Given the description of an element on the screen output the (x, y) to click on. 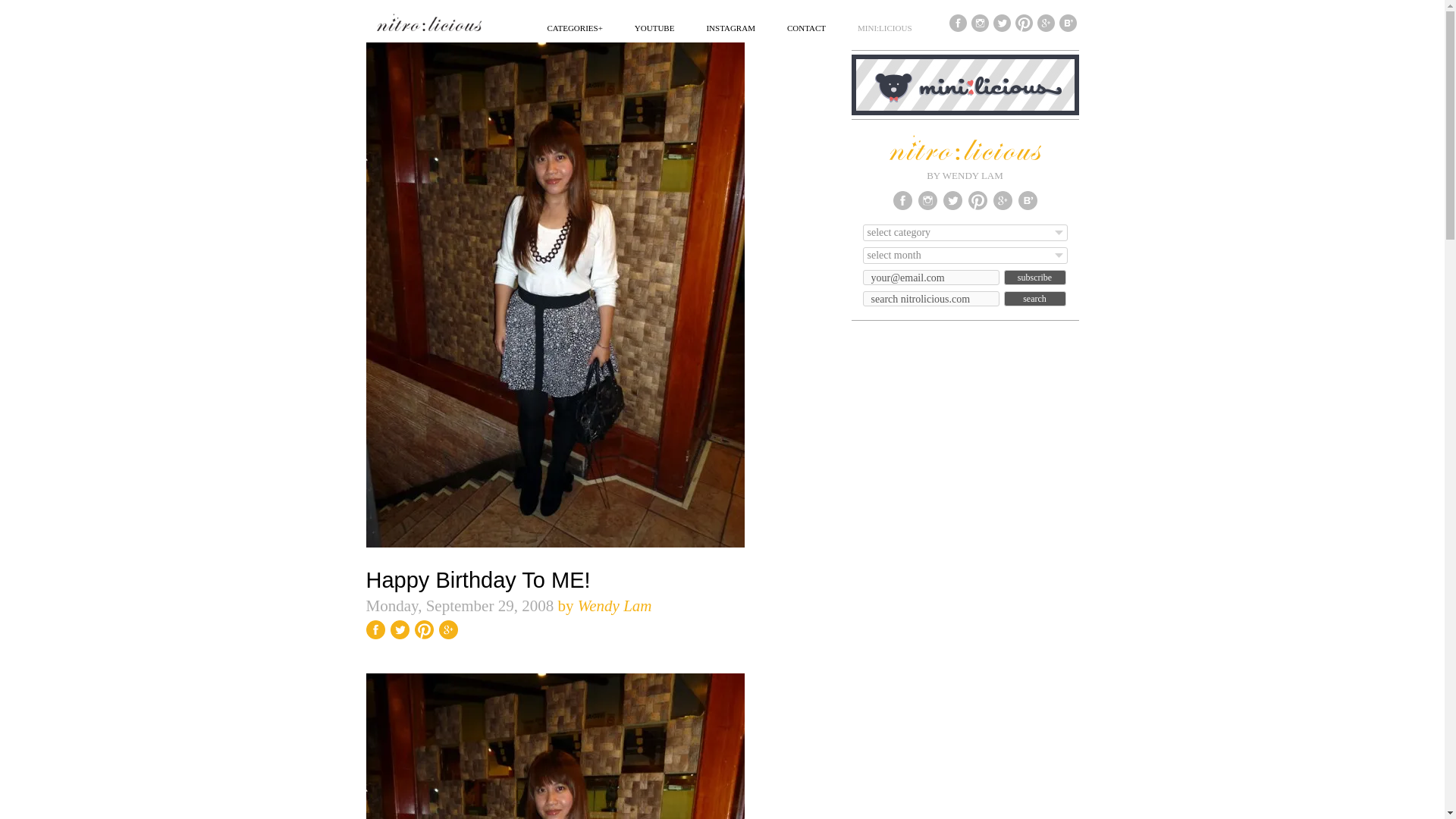
Wendy Lam (615, 606)
CONTACT (806, 28)
INSTAGRAM (730, 28)
Search (1034, 298)
MINI:LICIOUS (884, 28)
Subscribe (1034, 277)
YOUTUBE (654, 28)
